Given the description of an element on the screen output the (x, y) to click on. 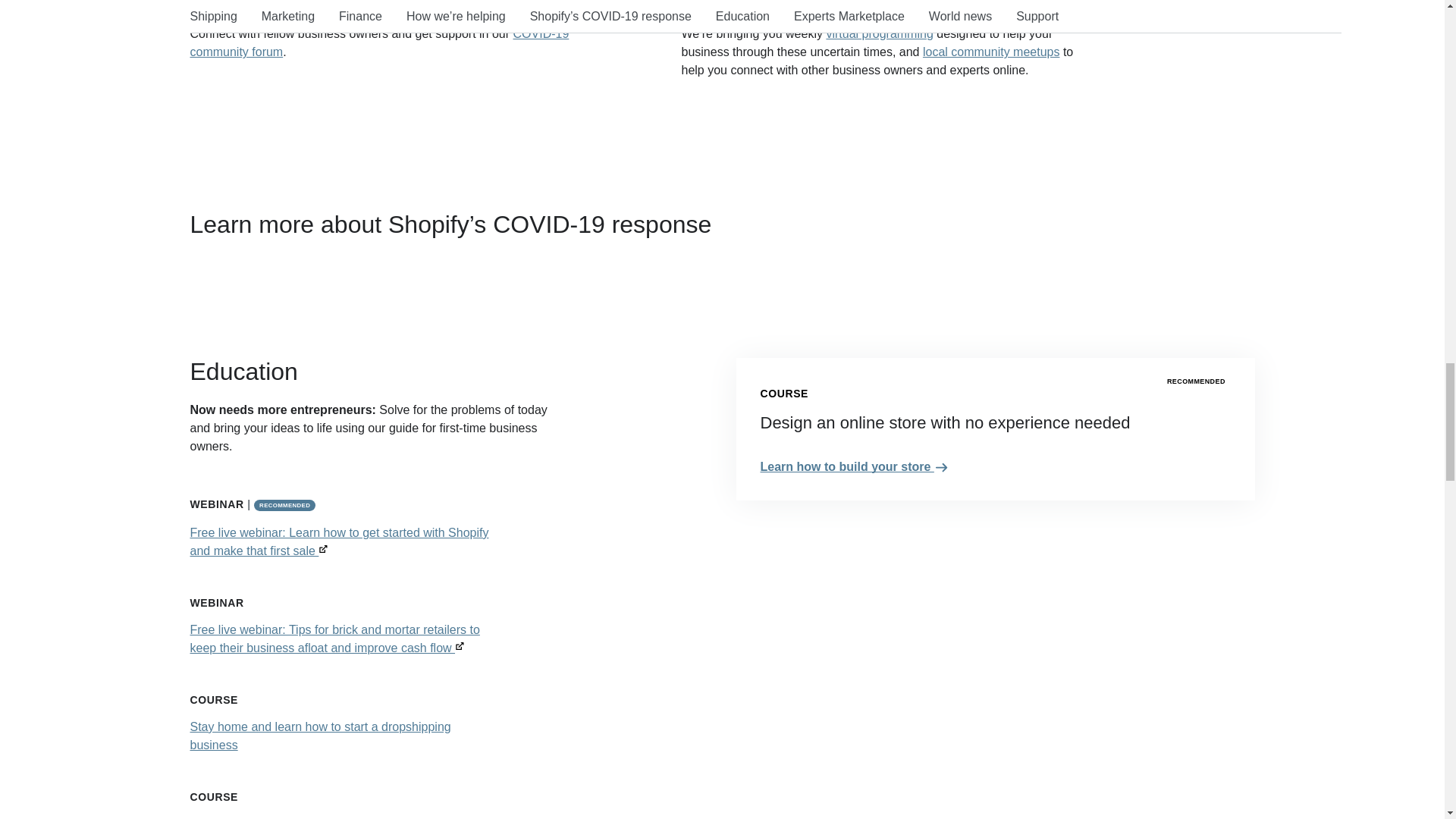
local community meetups (991, 51)
virtual programming (879, 33)
COVID-19 community forum (379, 42)
Learn how to build your store  (854, 466)
